Given the description of an element on the screen output the (x, y) to click on. 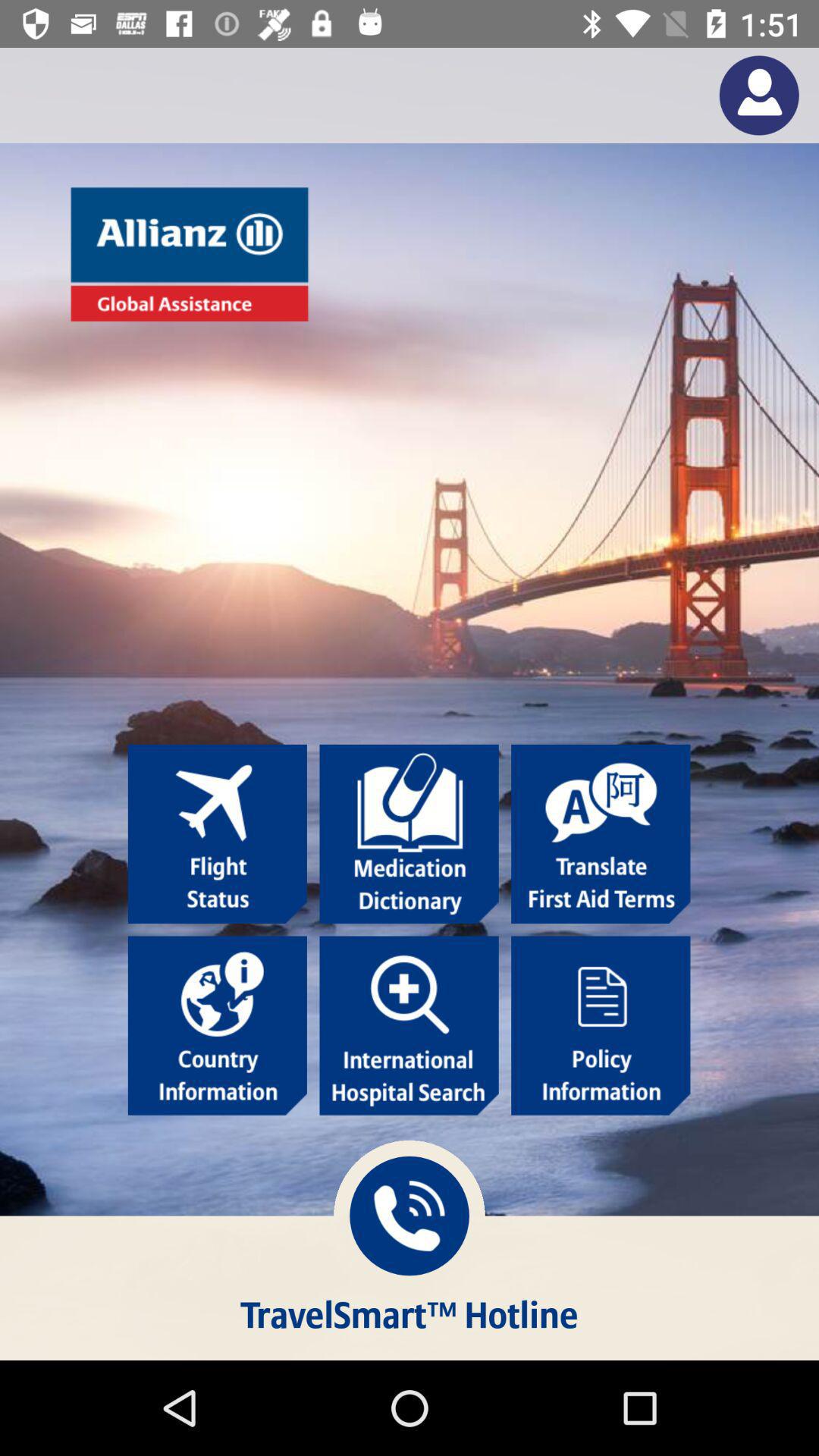
policy information icon (600, 1025)
